Given the description of an element on the screen output the (x, y) to click on. 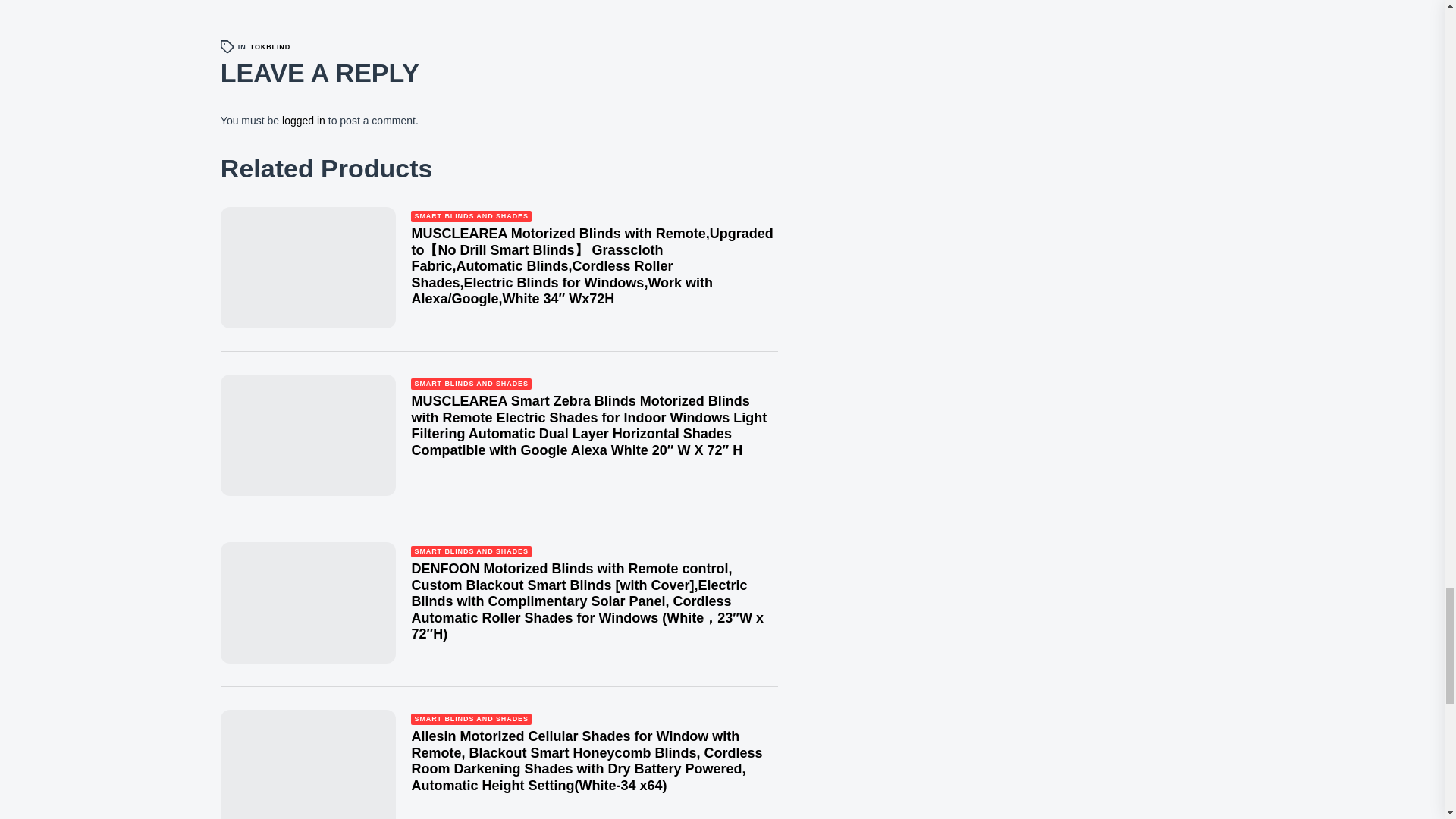
SMART BLINDS AND SHADES (470, 383)
TOKBLIND (270, 46)
SMART BLINDS AND SHADES (470, 718)
SMART BLINDS AND SHADES (470, 215)
SMART BLINDS AND SHADES (470, 551)
logged in (303, 120)
